Given the description of an element on the screen output the (x, y) to click on. 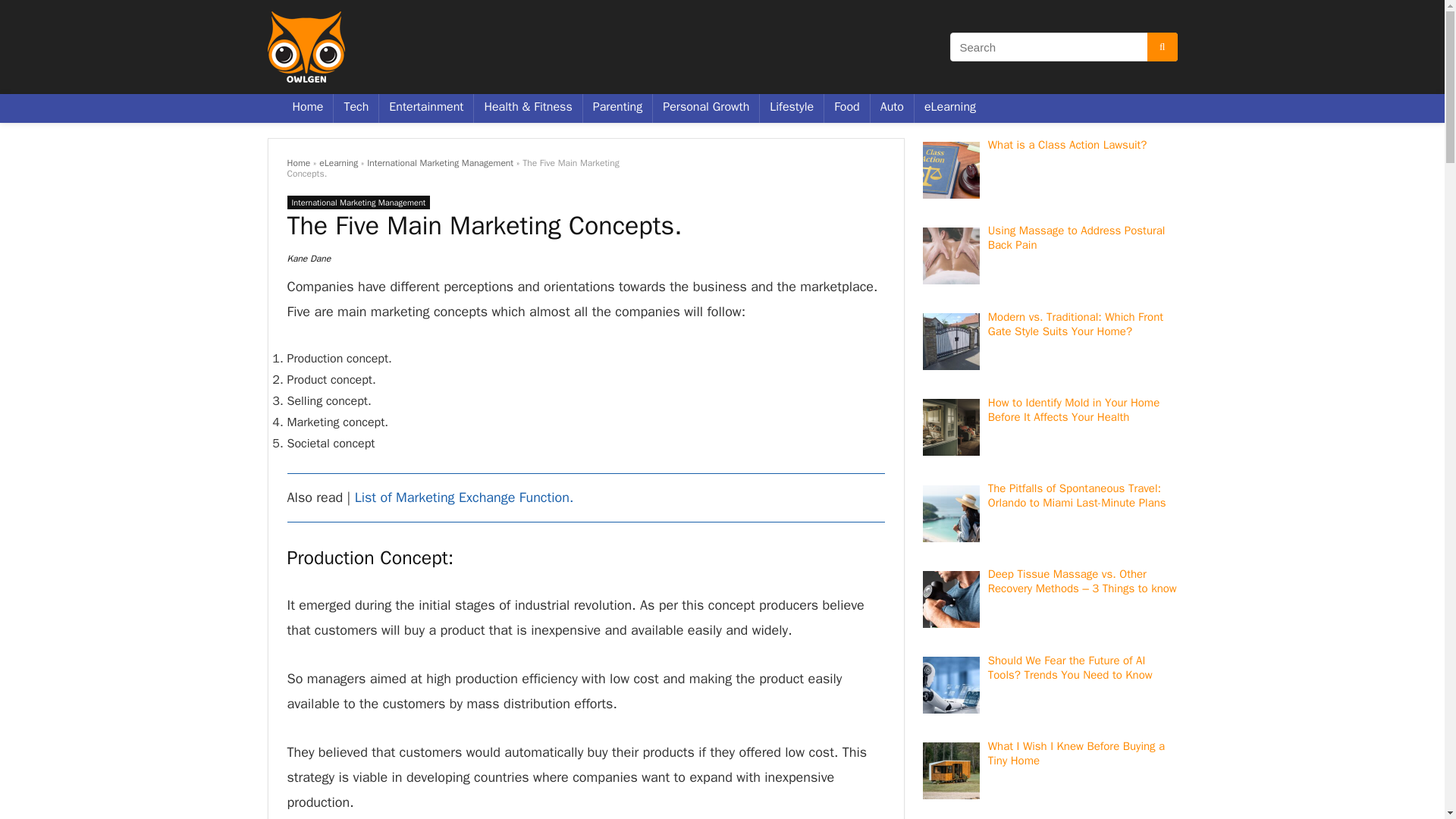
Auto (892, 108)
Using Massage to Address Postural Back Pain (1077, 237)
Home (307, 108)
Personal Growth (705, 108)
View all posts in International Marketing Management (357, 202)
eLearning (338, 162)
eLearning (949, 108)
International Marketing Management (439, 162)
Home (298, 162)
Kane Dane (308, 258)
Lifestyle (792, 108)
Entertainment (425, 108)
International Marketing Management (357, 202)
Food (846, 108)
What is a Class Action Lawsuit? (1067, 144)
